Given the description of an element on the screen output the (x, y) to click on. 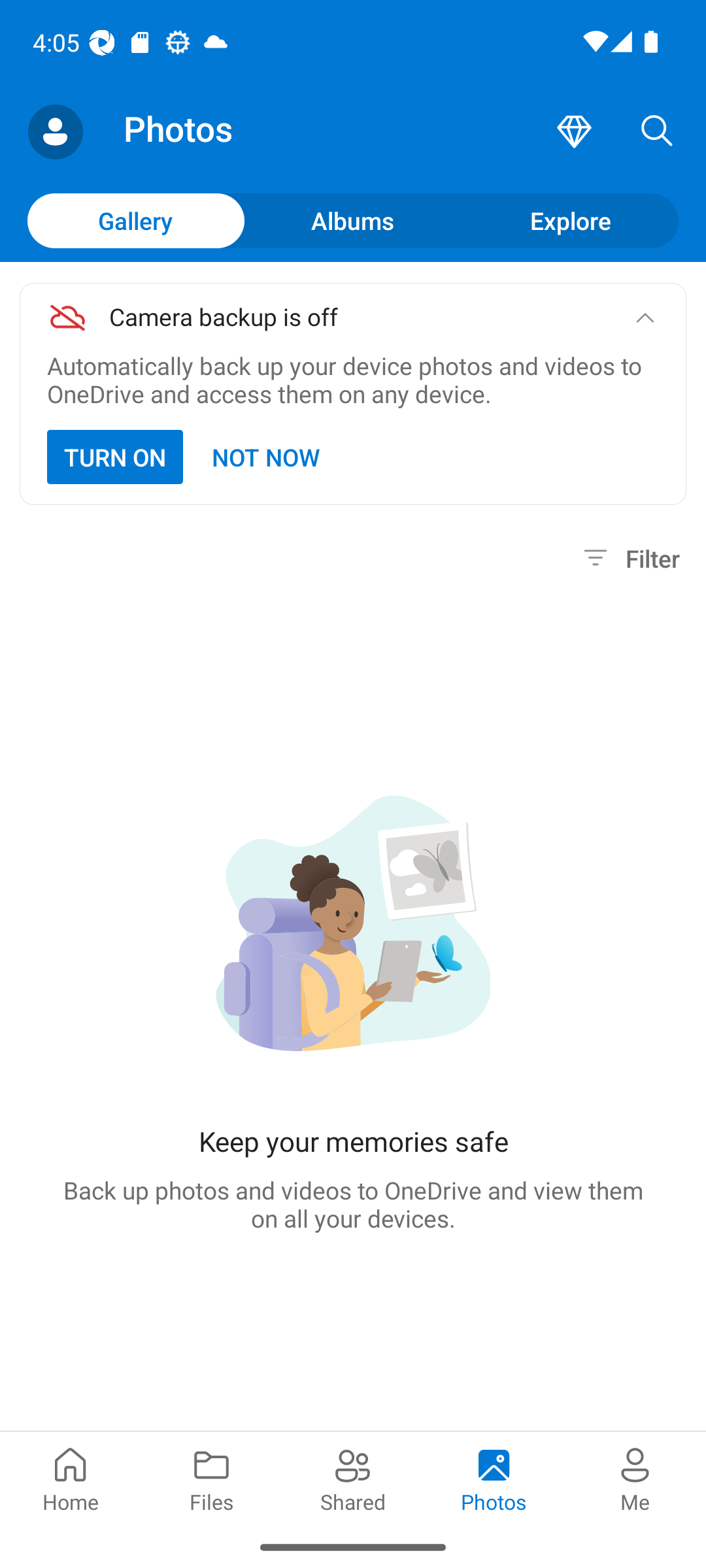
Account switcher (55, 131)
Premium button (574, 131)
Search button (656, 131)
Albums (352, 219)
Explore (569, 219)
Collapse camera status banner (645, 318)
TURN ON (114, 456)
NOT NOW (266, 456)
Filter (628, 557)
Home pivot Home (70, 1478)
Files pivot Files (211, 1478)
Shared pivot Shared (352, 1478)
Me pivot Me (635, 1478)
